Given the description of an element on the screen output the (x, y) to click on. 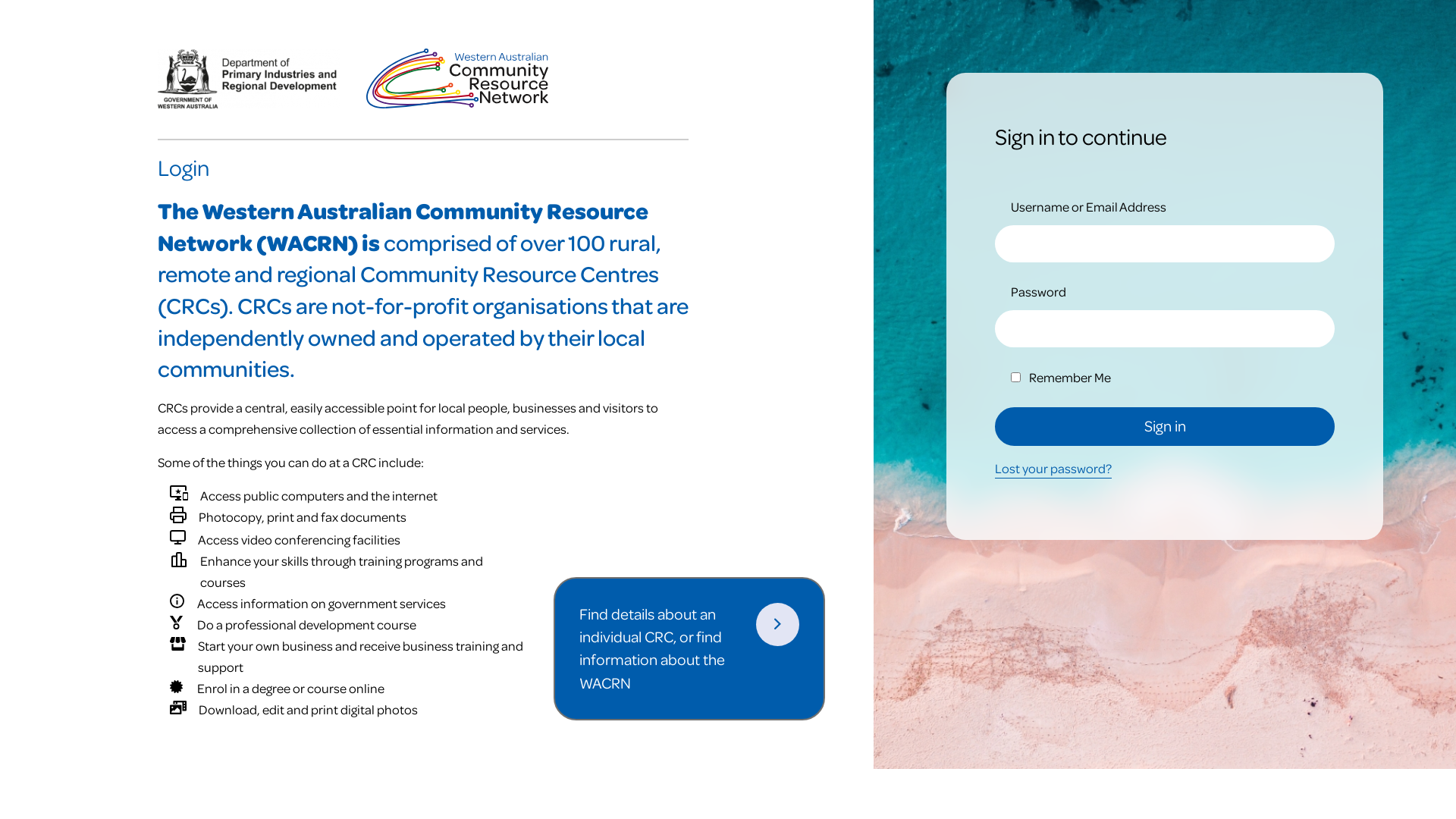
Sign in Element type: text (1164, 426)
Lost your password? Element type: text (1052, 468)
